Given the description of an element on the screen output the (x, y) to click on. 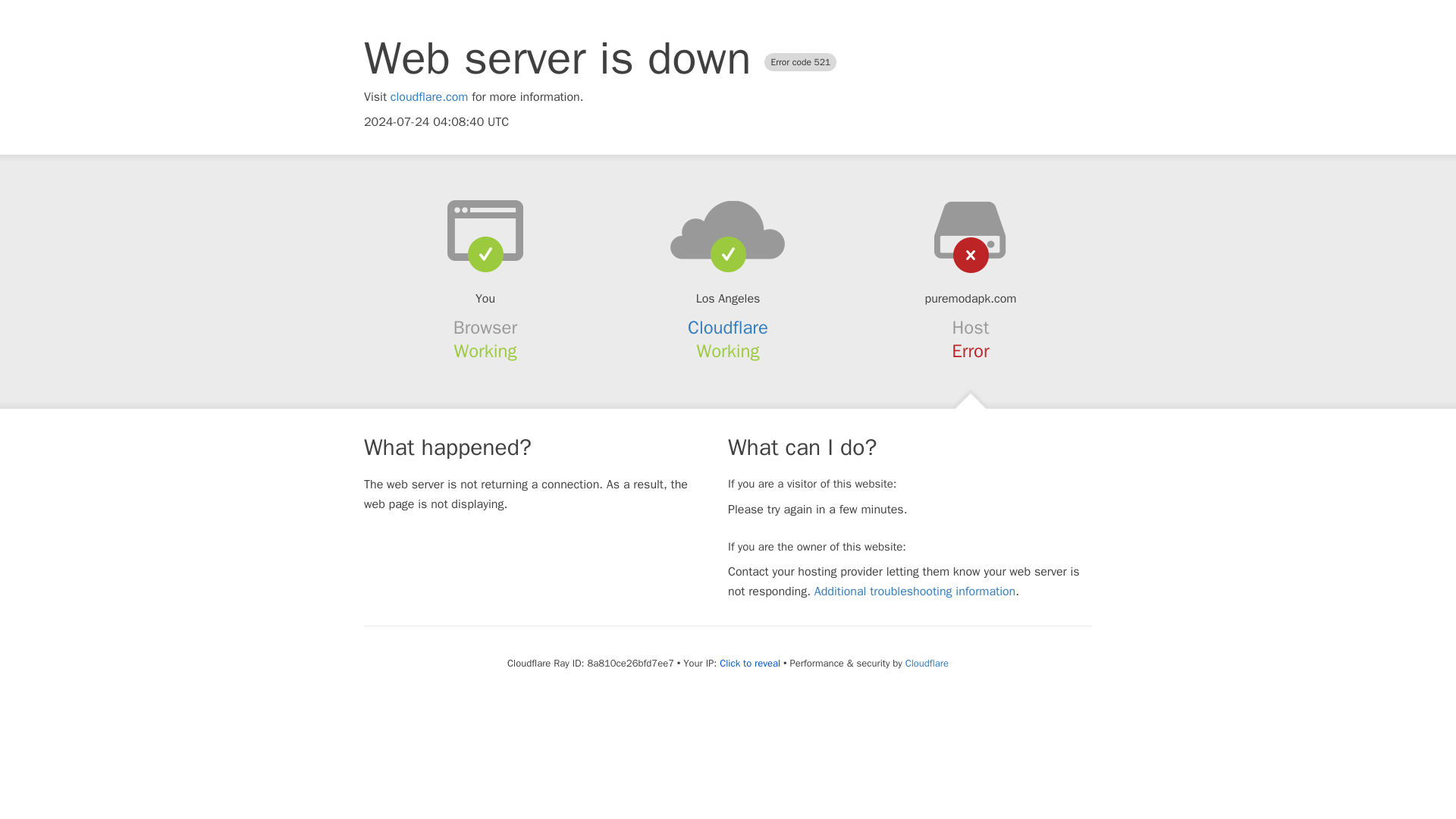
cloudflare.com (429, 96)
Cloudflare (927, 662)
Click to reveal (749, 663)
Additional troubleshooting information (913, 590)
Cloudflare (727, 327)
